Given the description of an element on the screen output the (x, y) to click on. 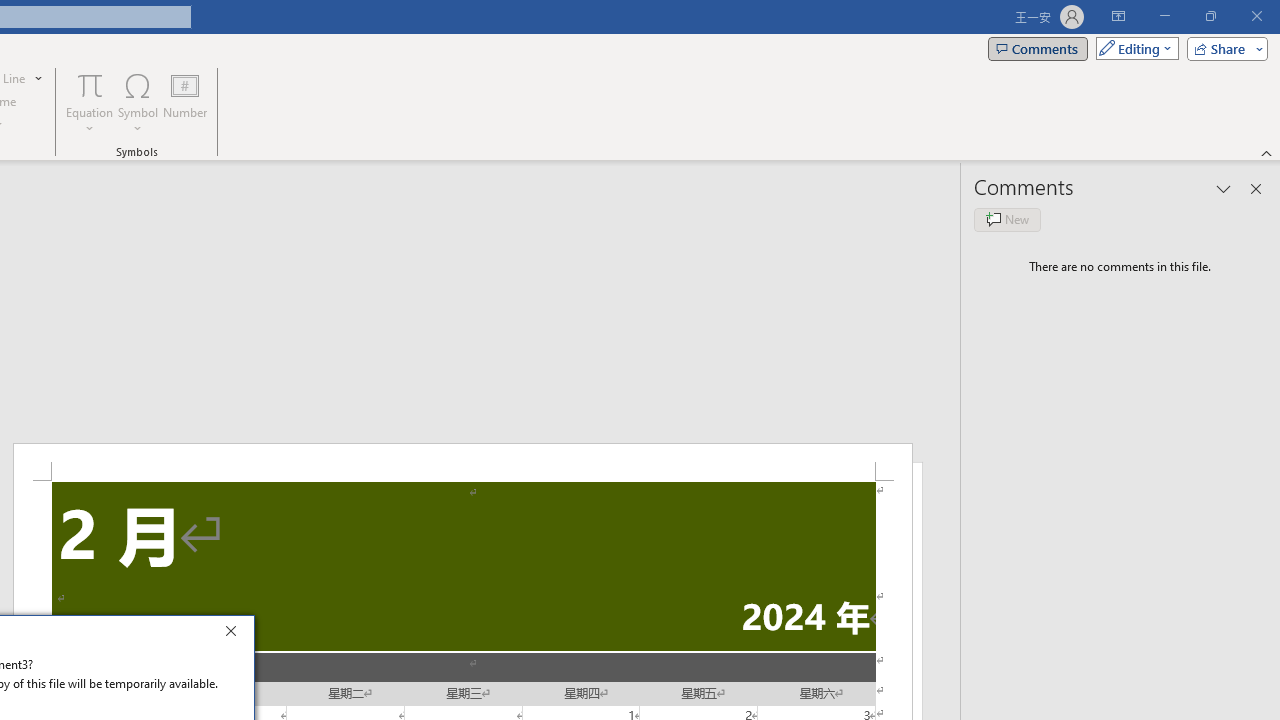
New comment (1007, 219)
Equation (90, 102)
Equation (90, 84)
Symbol (138, 102)
Header -Section 2- (462, 461)
